Given the description of an element on the screen output the (x, y) to click on. 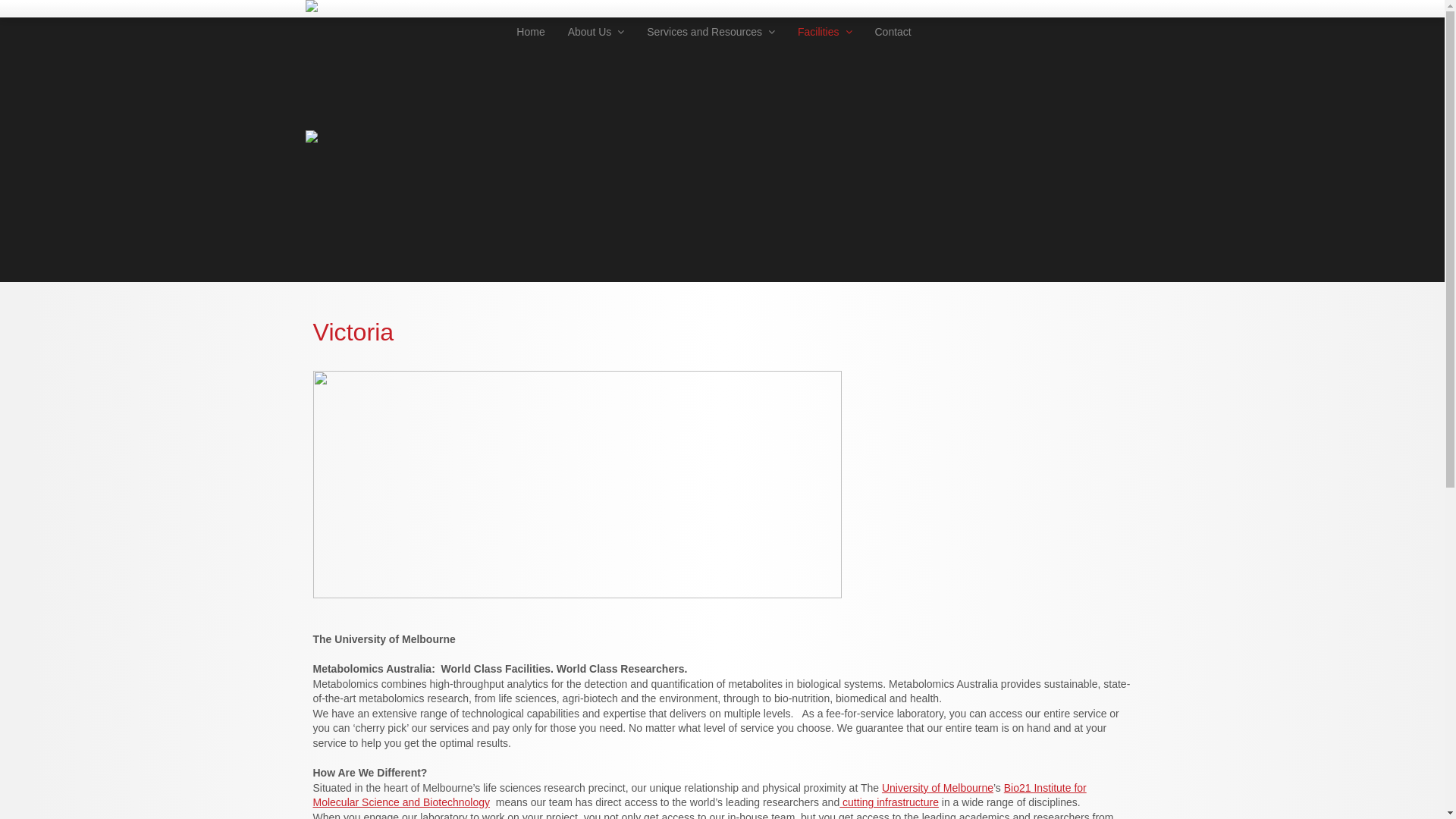
University of Melbourne Element type: text (937, 787)
Home Element type: text (530, 32)
About Us Element type: text (596, 32)
Bio21 Institute for Molecular Science and Biotechnology Element type: text (698, 795)
cutting infrastructure Element type: text (888, 802)
Services and Resources Element type: text (710, 32)
Facilities Element type: text (824, 32)
Contact Element type: text (892, 32)
